Given the description of an element on the screen output the (x, y) to click on. 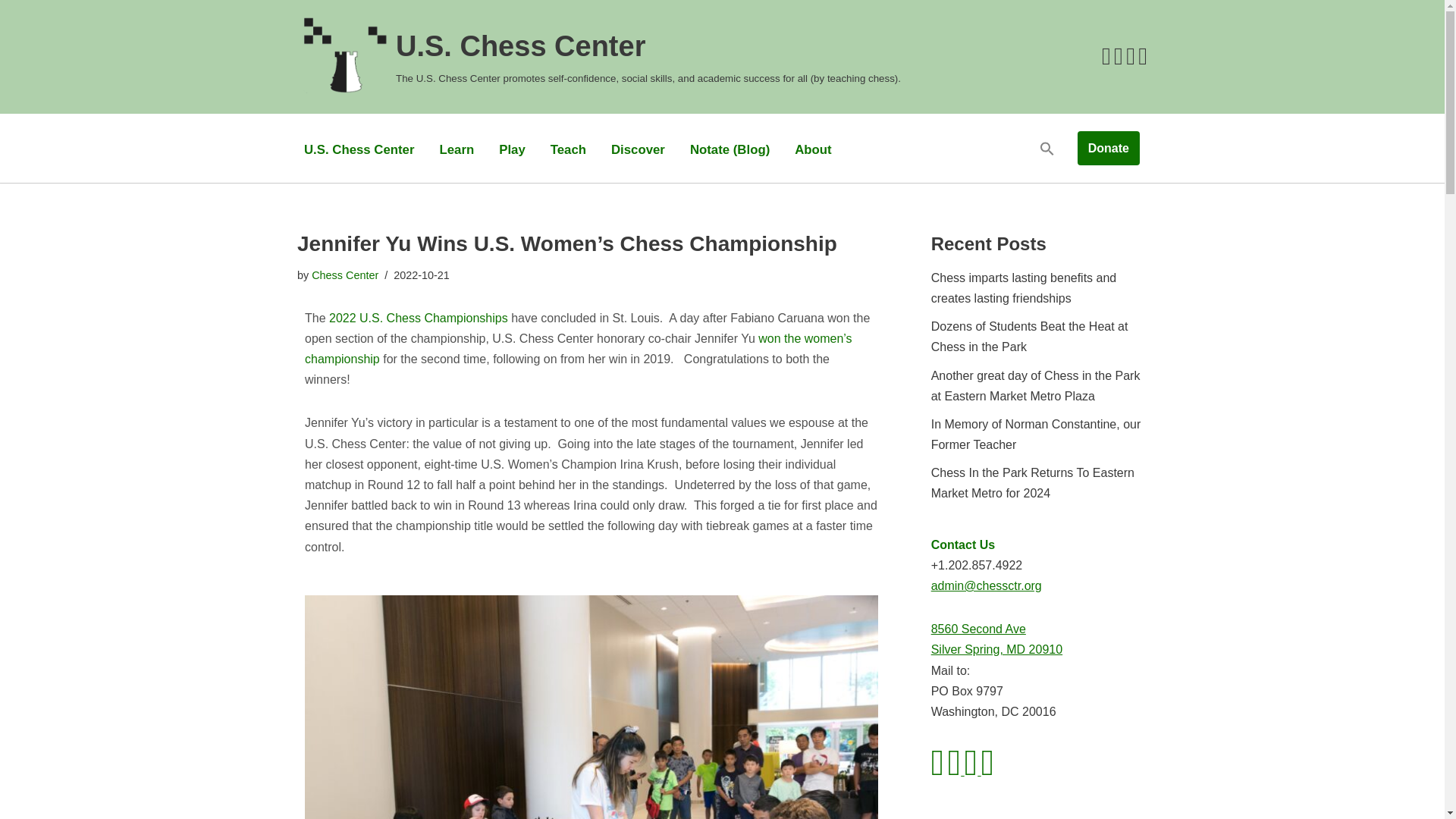
Learn (456, 149)
Dozens of Students Beat the Heat at Chess in the Park (1029, 336)
About (812, 149)
Discover (638, 149)
Donate (1108, 148)
U.S. Chess Center (358, 149)
Chess Center (344, 275)
Posts by Chess Center (344, 275)
Skip to content (11, 31)
Teach (568, 149)
2022 U.S. Chess Championships (418, 318)
